Given the description of an element on the screen output the (x, y) to click on. 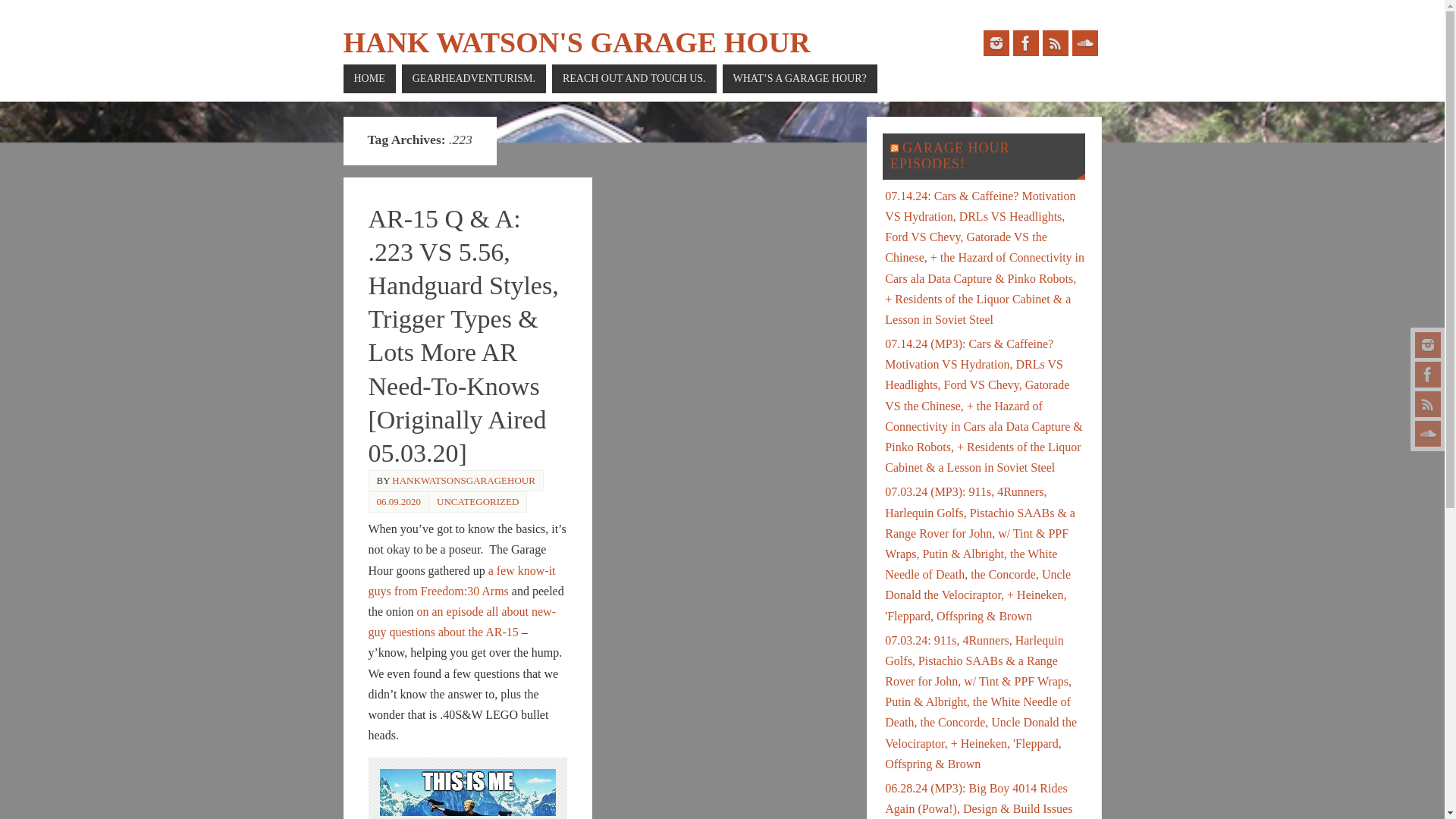
HOME (368, 78)
Garage Hour Libsyn Microsite (1428, 433)
HANK WATSON'S GARAGE HOUR (575, 42)
on an episode all about new-guy questions about the AR-15 (462, 621)
Garage Hour on Instaspam (995, 43)
Garage Hour on Farcebook (1026, 43)
GEARHEADVENTURISM. (473, 78)
View all posts by HankWatsonsGarageHour (463, 480)
Garage Hour on Instaspam (1428, 344)
REACH OUT AND TOUCH US. (633, 78)
